Given the description of an element on the screen output the (x, y) to click on. 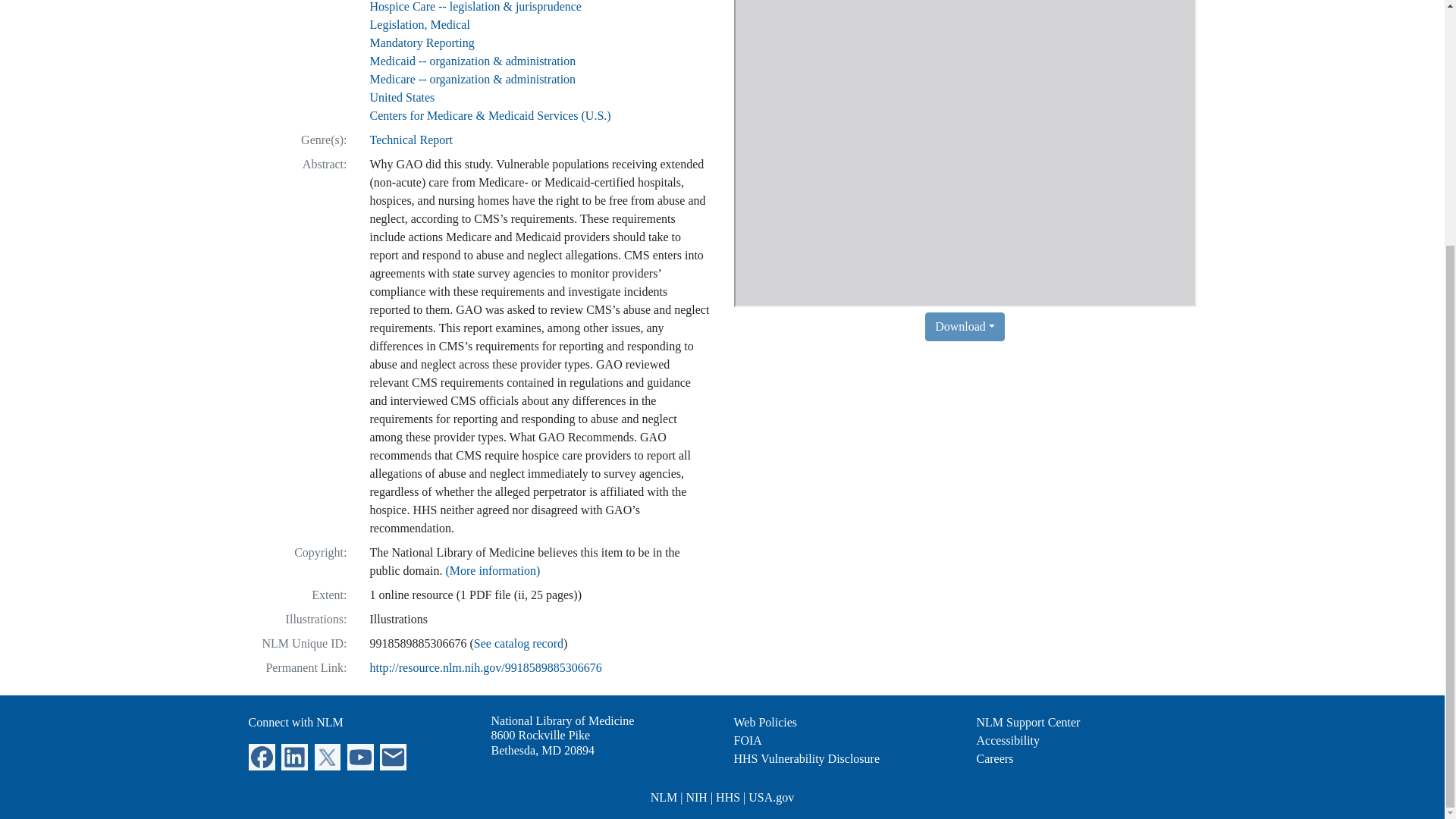
Connect with NLM (295, 721)
External link: please review our privacy policy. (261, 755)
Accessibility (1008, 739)
NIH (695, 797)
NLM Support Center (1028, 721)
External link: please review our privacy policy. (393, 755)
HHS Vulnerability Disclosure (806, 758)
FOIA (747, 739)
Careers (994, 758)
NLM (664, 797)
External link: please review our privacy policy. (294, 755)
Mandatory Reporting (543, 741)
External link: please review our privacy policy. (421, 42)
Technical Report (360, 755)
